Given the description of an element on the screen output the (x, y) to click on. 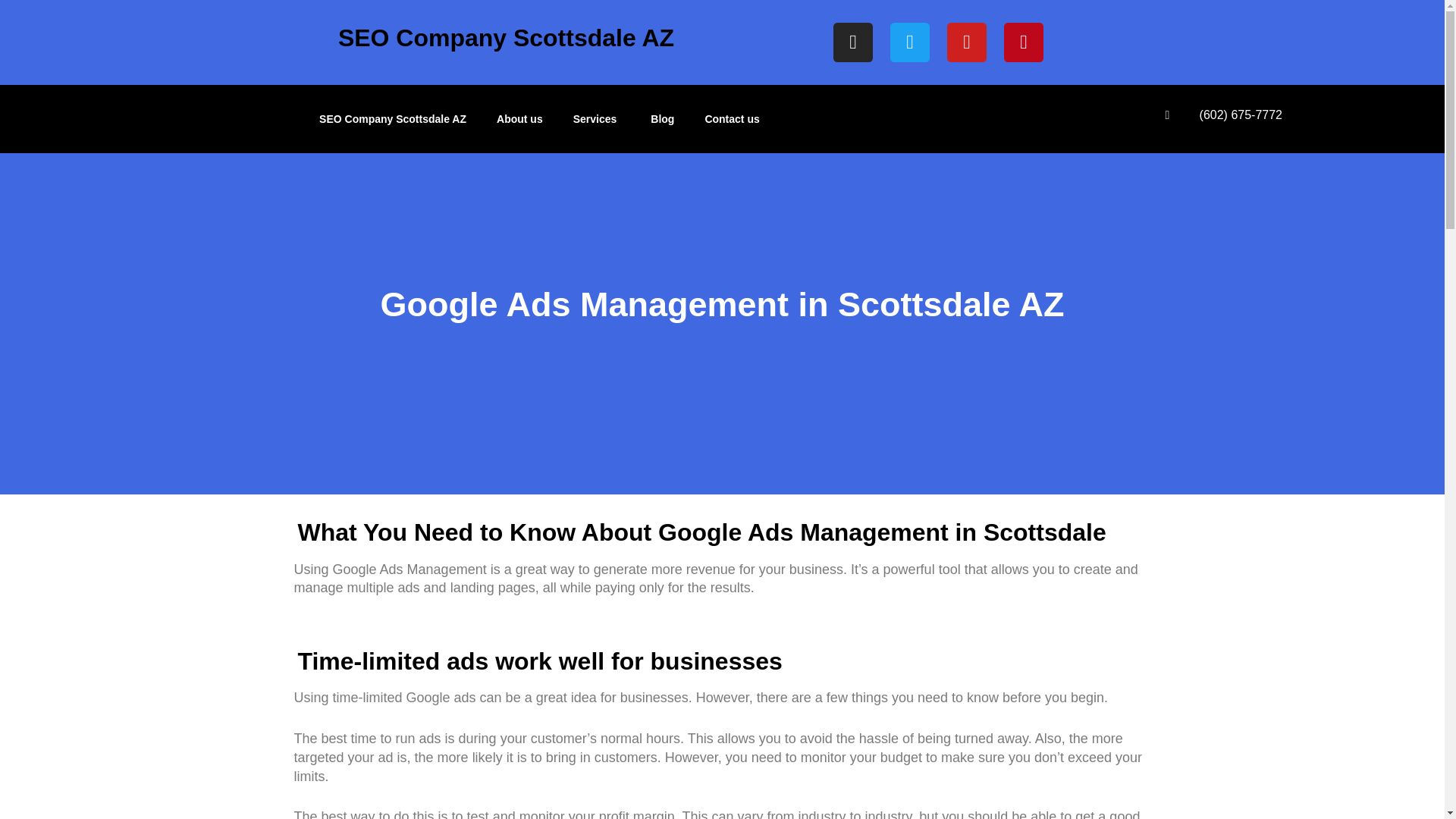
Twitter (909, 42)
Contact us (731, 118)
SEO Company Scottsdale AZ (392, 118)
Pinterest (1023, 42)
About us (519, 118)
Blog (661, 118)
Instagram (852, 42)
Services (596, 118)
Youtube (967, 42)
